Given the description of an element on the screen output the (x, y) to click on. 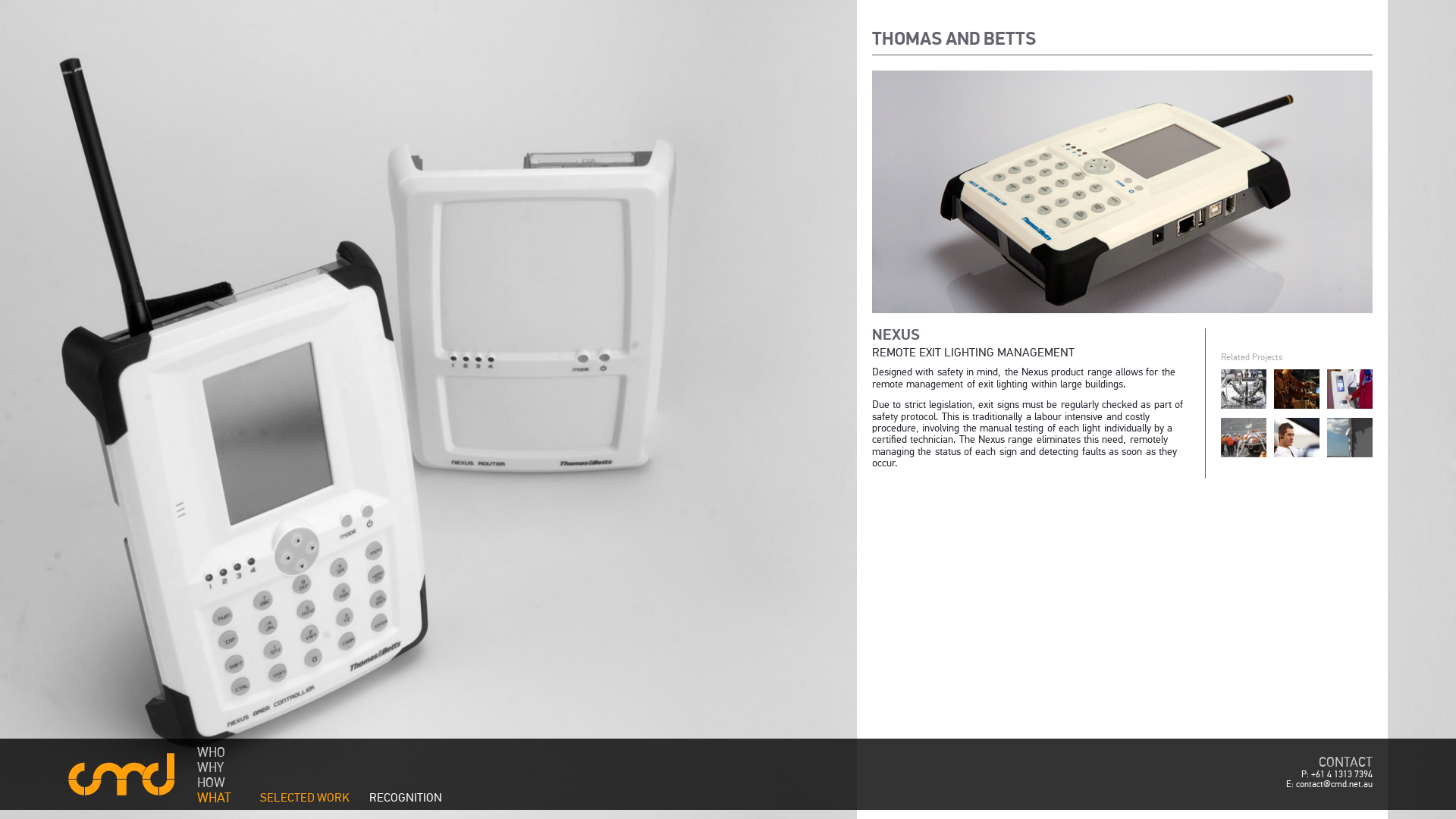
RECOGNITION Element type: text (413, 796)
WHO Element type: text (219, 751)
WHY Element type: text (219, 766)
SELECTED WORK Element type: text (312, 796)
WHAT Element type: text (219, 796)
HOW Element type: text (219, 781)
E: contact@cmd.net.au Element type: text (1329, 783)
CONTACT Element type: text (1345, 762)
